Given the description of an element on the screen output the (x, y) to click on. 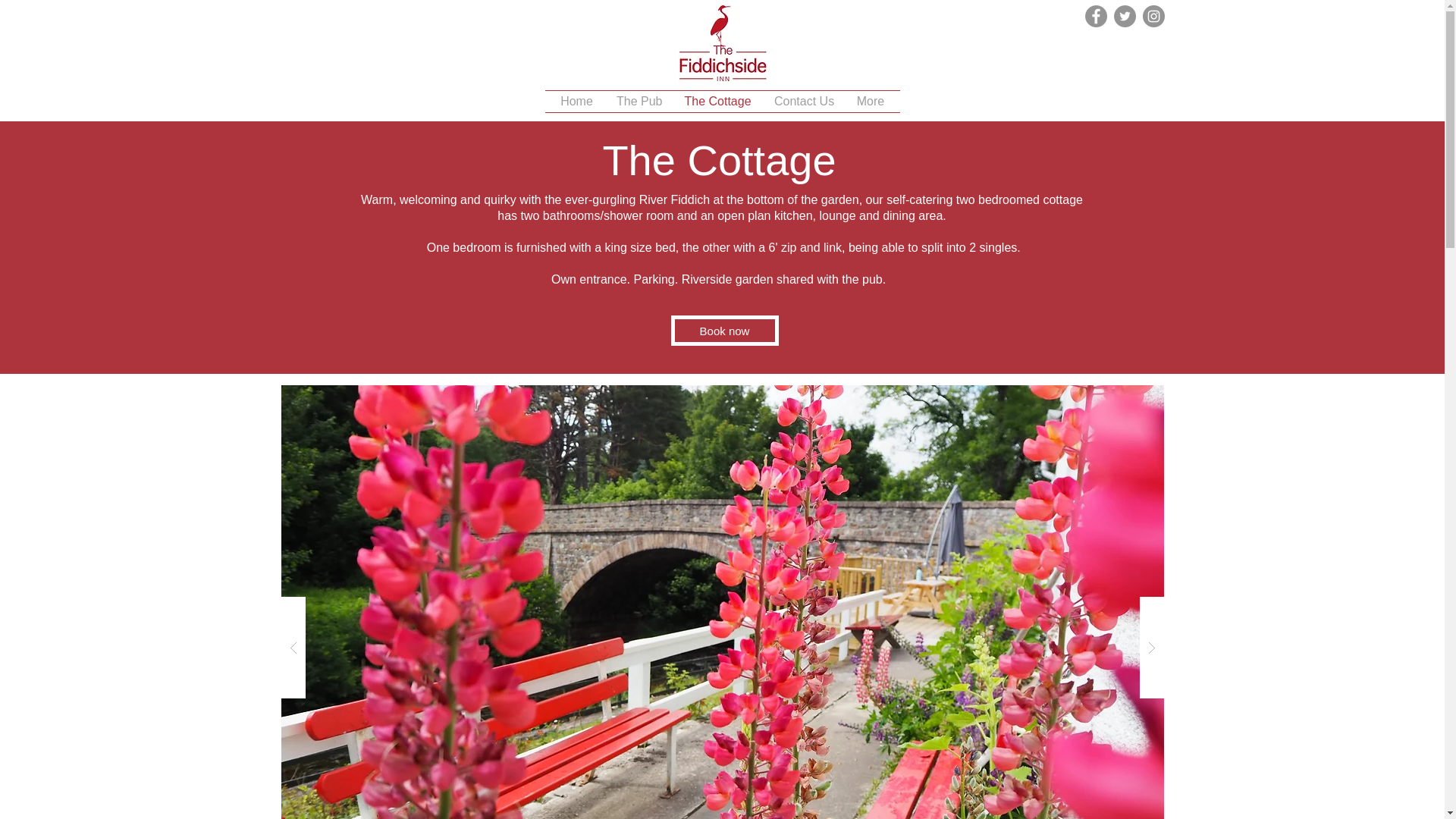
The Pub (638, 101)
Contact Us (803, 101)
The Cottage (717, 101)
Book now (723, 330)
Home (576, 101)
